Given the description of an element on the screen output the (x, y) to click on. 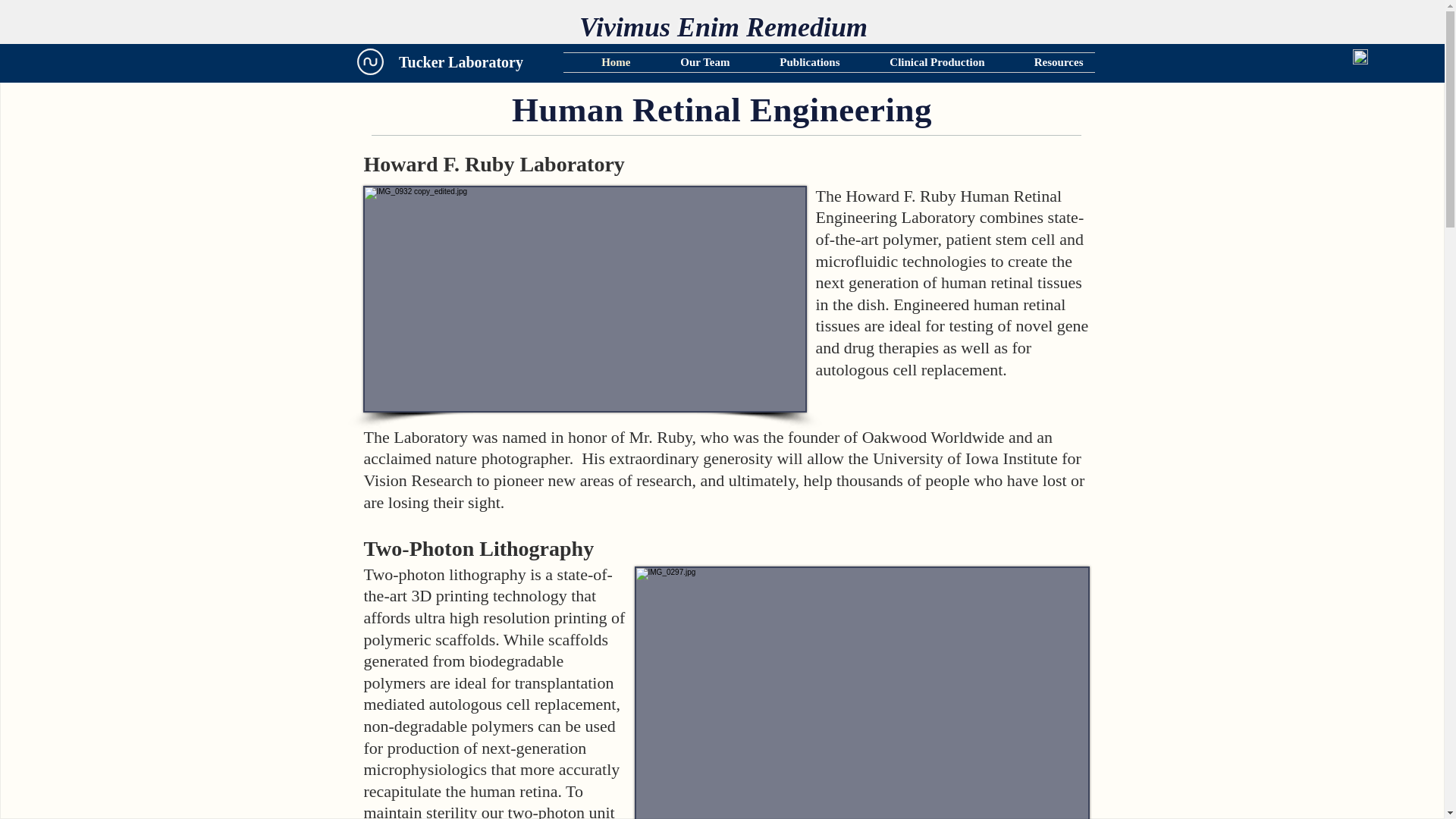
Tucker Laboratory (460, 61)
Clinical Production (922, 62)
Home (602, 62)
Our Team (691, 62)
Resources (1044, 62)
Publications (796, 62)
